Given the description of an element on the screen output the (x, y) to click on. 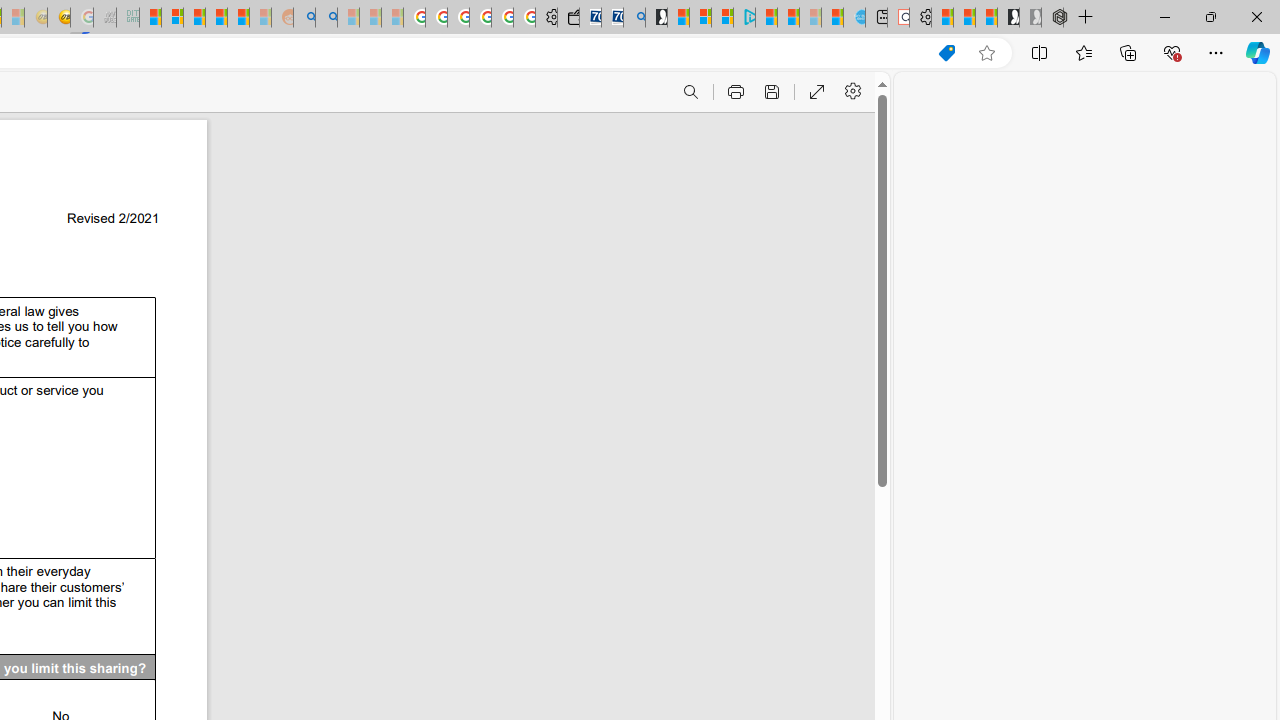
Settings and more (852, 92)
Find (Ctrl + F) (690, 92)
MSNBC - MSN (150, 17)
